Given the description of an element on the screen output the (x, y) to click on. 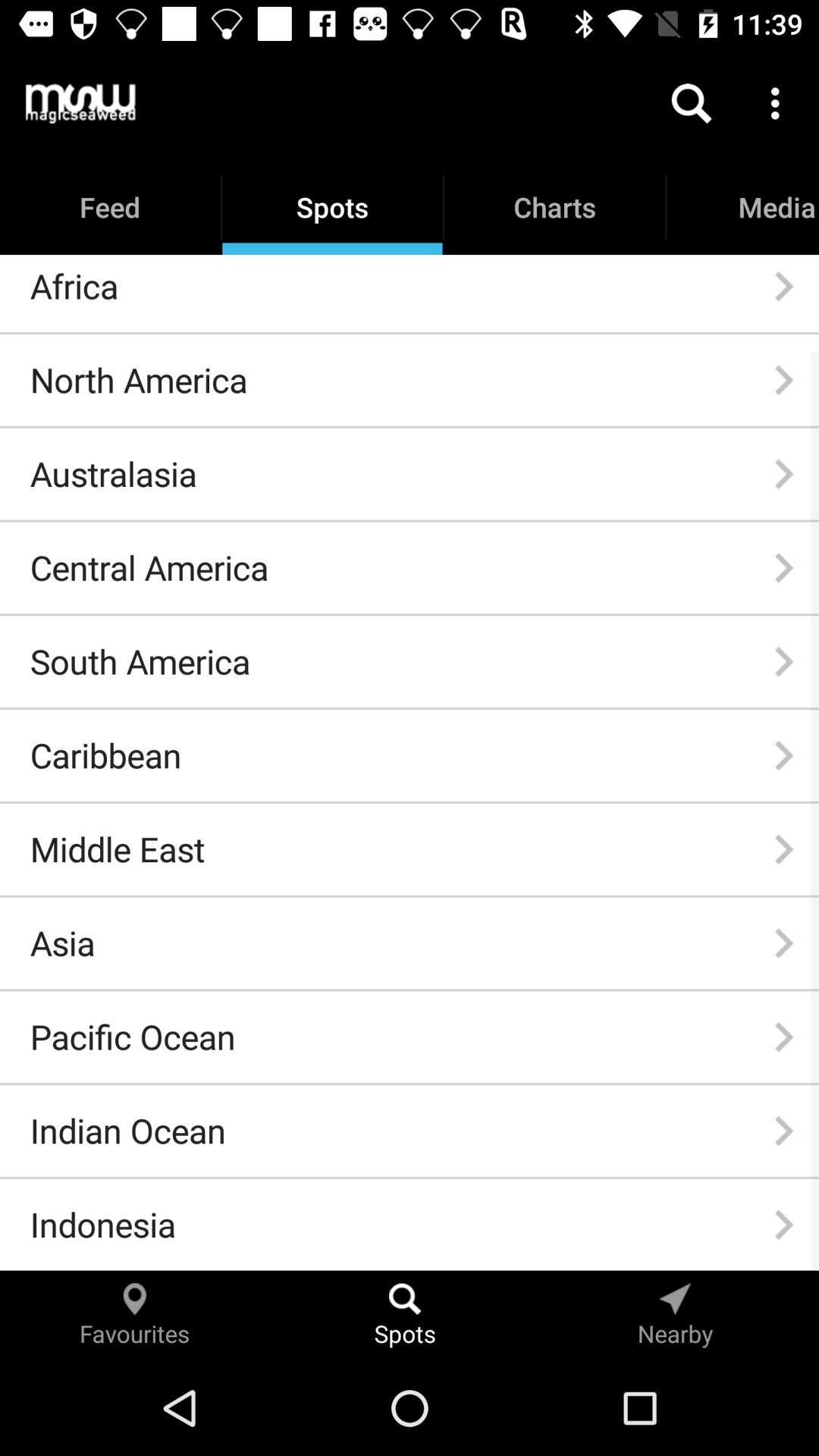
open item next to the asia icon (784, 943)
